Given the description of an element on the screen output the (x, y) to click on. 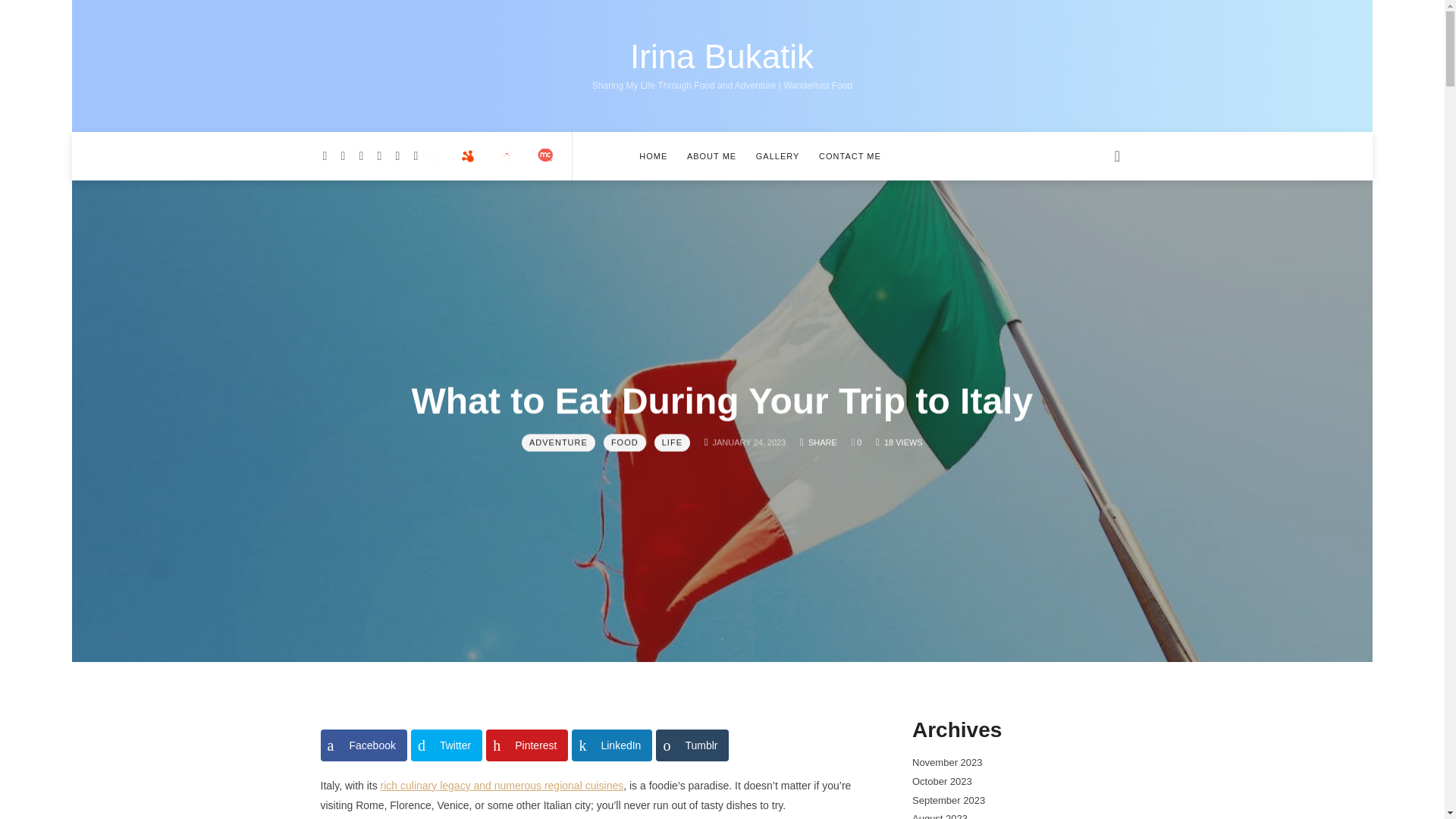
FOOD (625, 442)
ABOUT ME (711, 155)
Share on LinkedIn (612, 745)
CONTACT ME (849, 155)
Share on Twitter (445, 745)
Share on Facebook (721, 56)
ADVENTURE (363, 745)
LIFE (558, 442)
JANUARY 24, 2023 (671, 442)
Share on Tumblr (749, 442)
GALLERY (692, 745)
Share on Pinterest (778, 155)
